Given the description of an element on the screen output the (x, y) to click on. 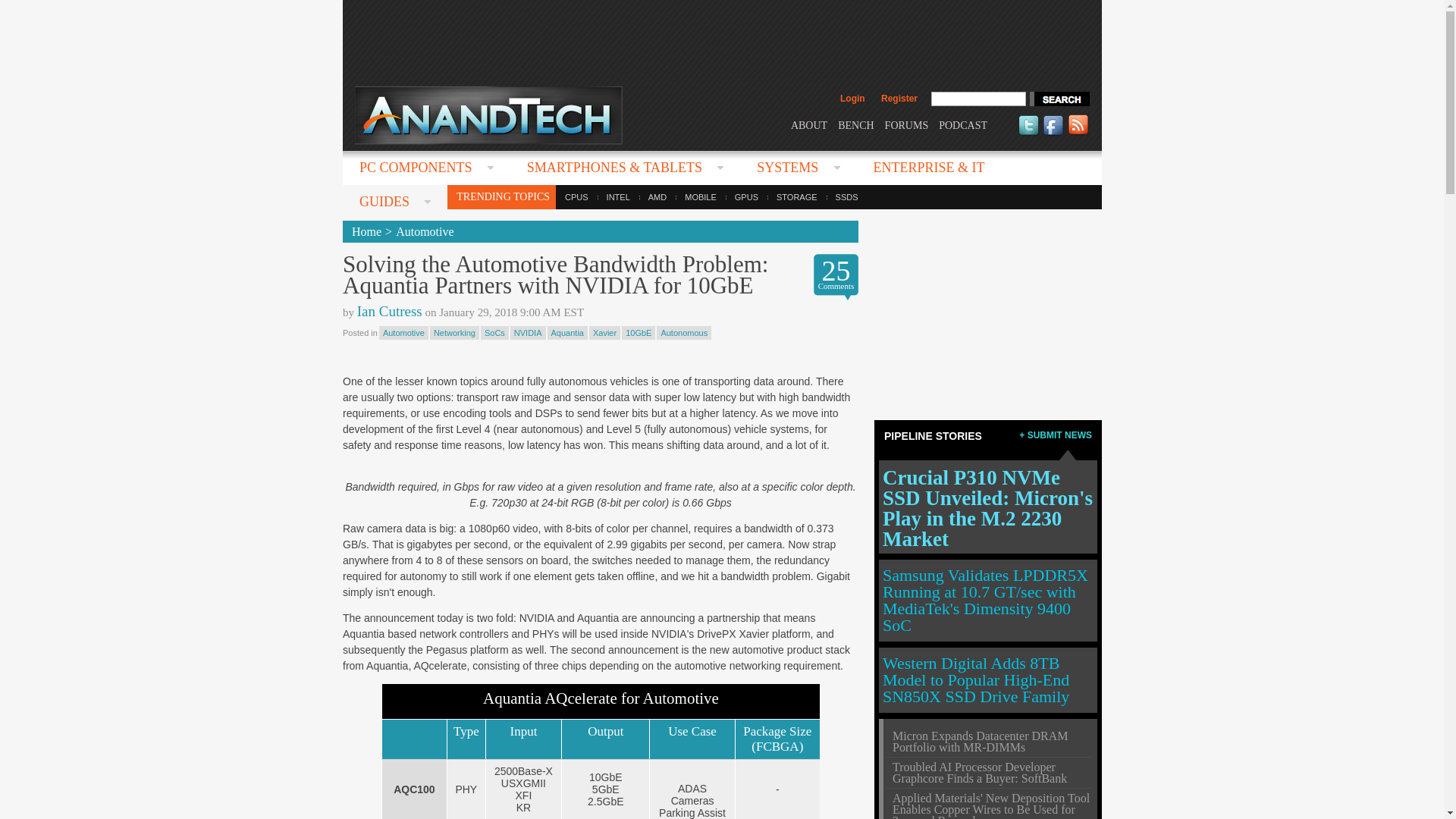
search (1059, 98)
FORUMS (906, 125)
Login (852, 98)
BENCH (855, 125)
search (1059, 98)
ABOUT (808, 125)
PODCAST (963, 125)
search (1059, 98)
Register (898, 98)
